Given the description of an element on the screen output the (x, y) to click on. 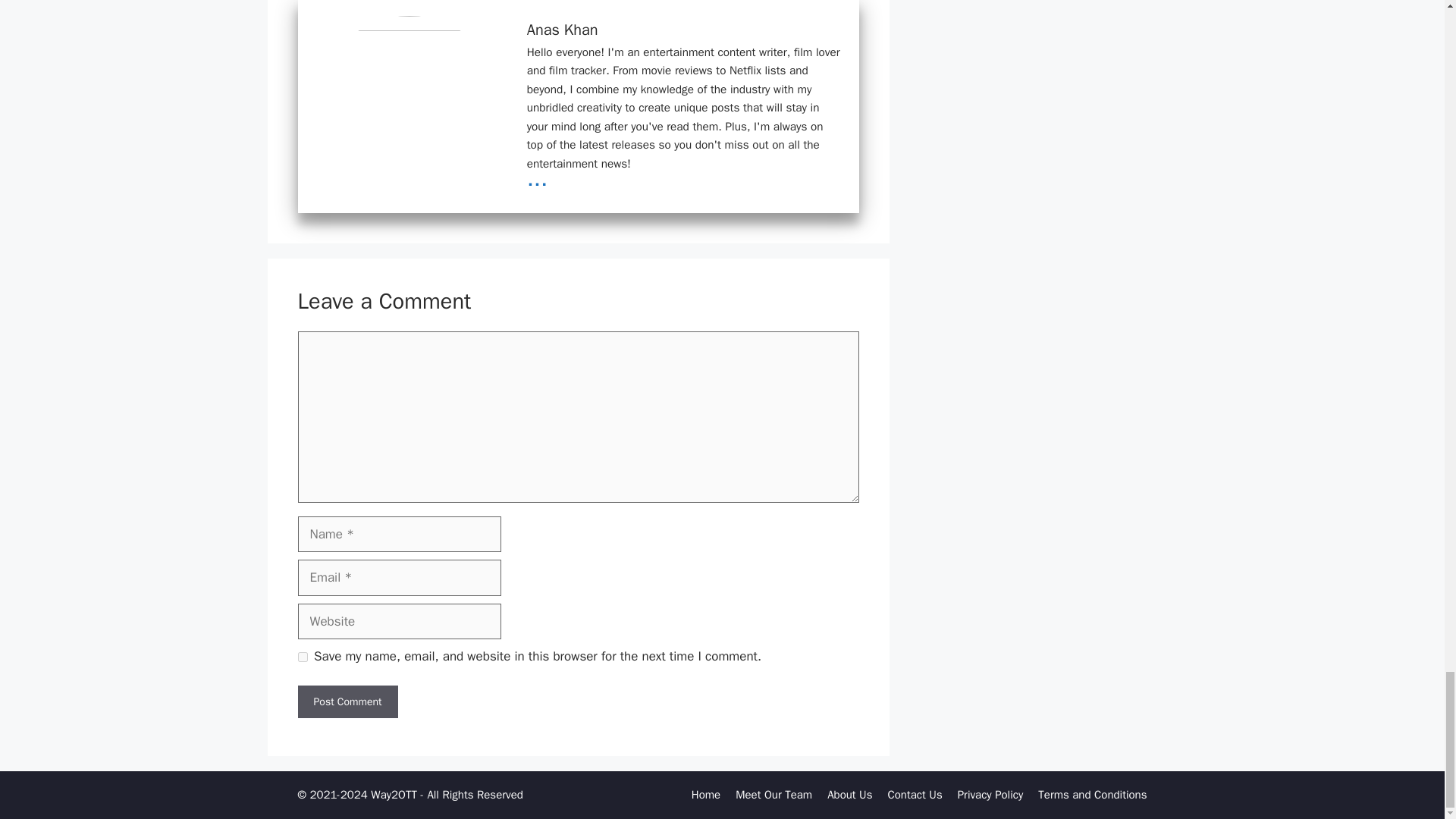
yes (302, 656)
Post Comment (347, 701)
